Given the description of an element on the screen output the (x, y) to click on. 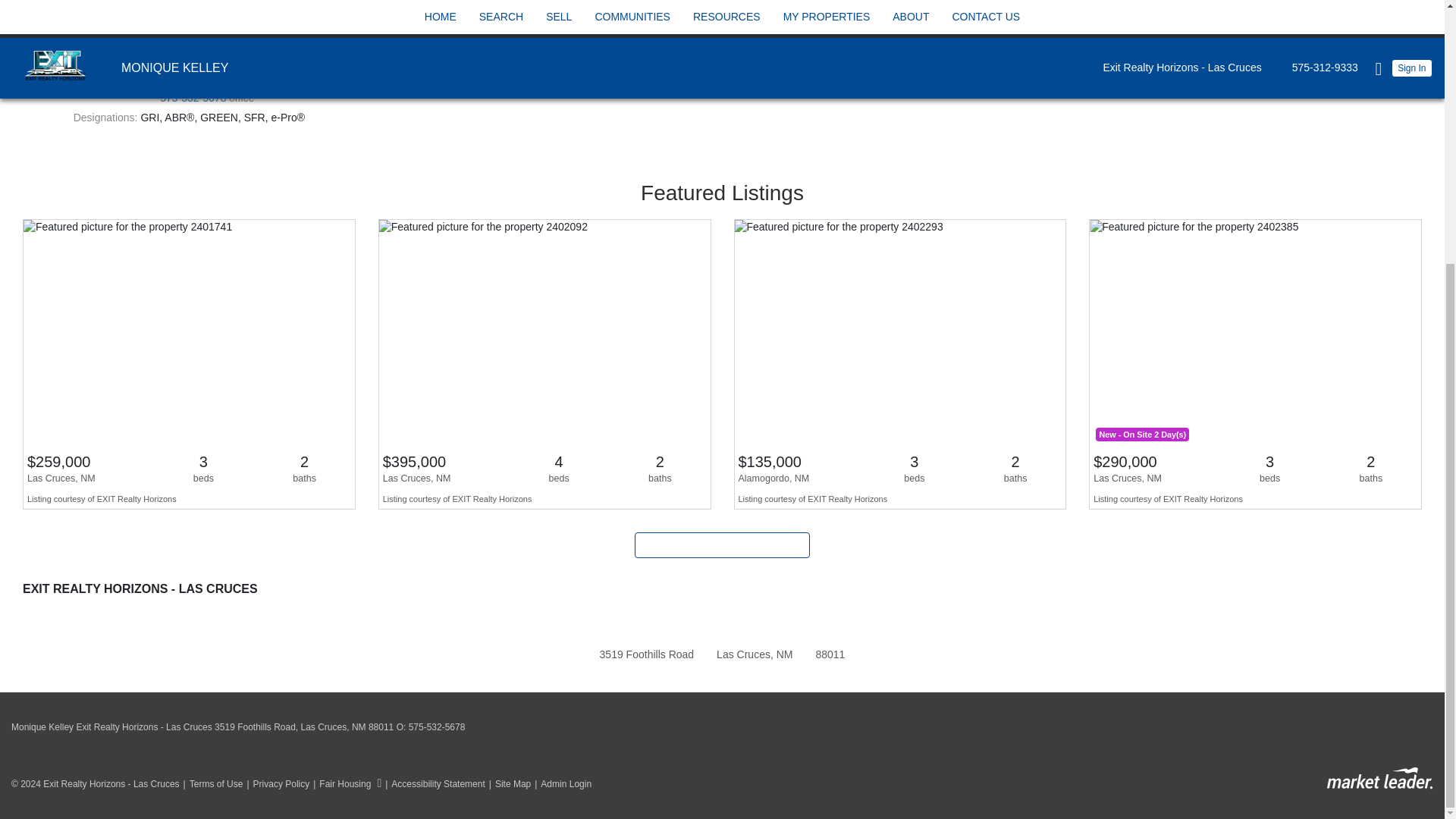
Terms of Use (211, 784)
Contact Me (189, 43)
Featured Property (544, 364)
575-312-9333 (192, 78)
Featured Property (189, 364)
Featured Property (1255, 364)
575-532-5678 (437, 726)
Featured Property (900, 364)
Powered By Market Leader (1379, 778)
Privacy Policy (275, 784)
575-532-5678 (194, 97)
Fair Housing (344, 784)
See All Featured Listings (721, 544)
